Given the description of an element on the screen output the (x, y) to click on. 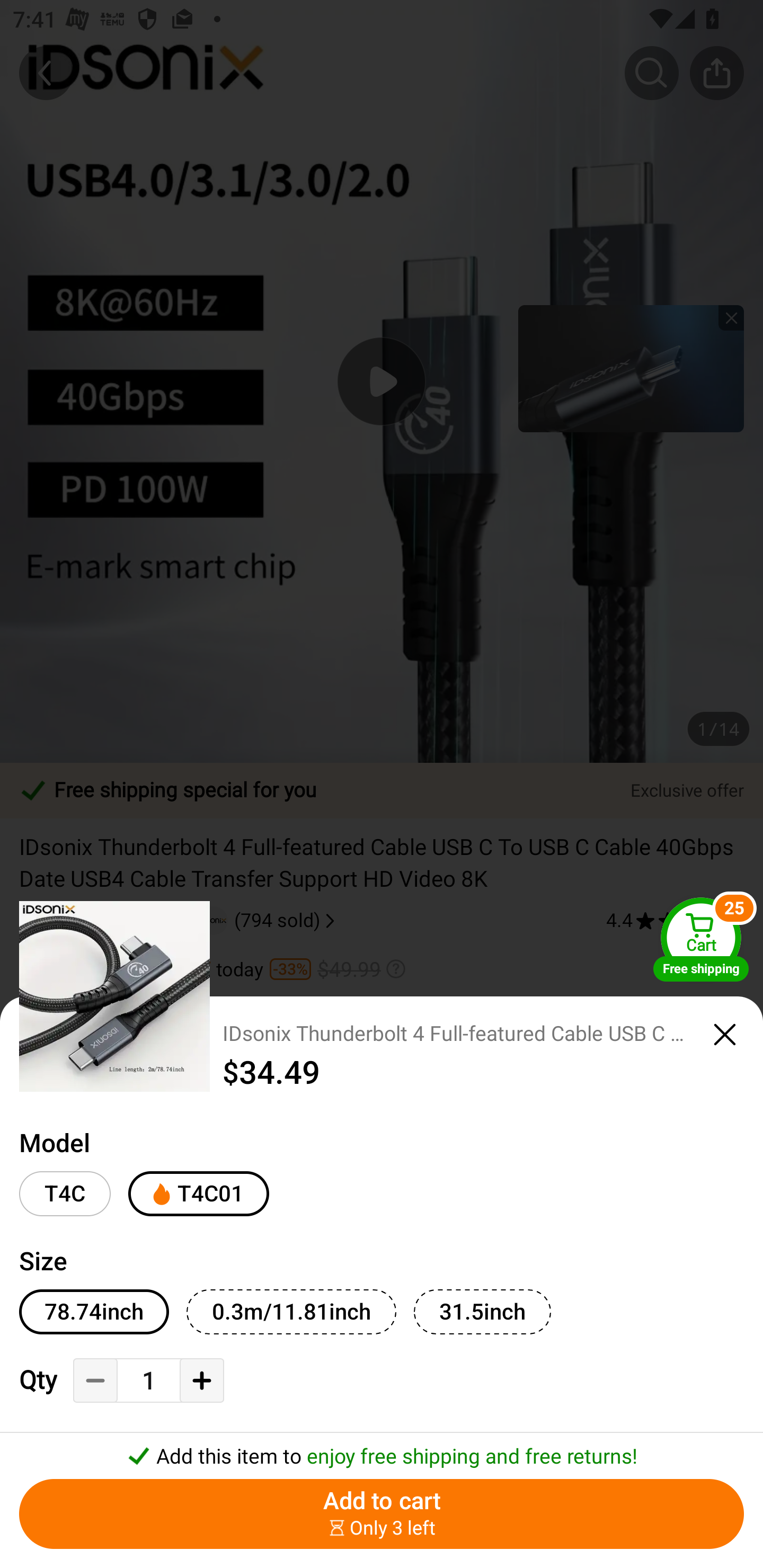
Cart Free shipping Cart (701, 939)
close (724, 1034)
 T4C (64, 1193)
 T4C01 (198, 1193)
 78.74inch (94, 1311)
 0.3m/11.81inch (290, 1311)
 31.5inch (481, 1311)
Decrease Quantity Button (95, 1380)
Add Quantity Button (201, 1380)
1 (148, 1381)
Add to cart ￼￼Only 3 left (381, 1513)
